Given the description of an element on the screen output the (x, y) to click on. 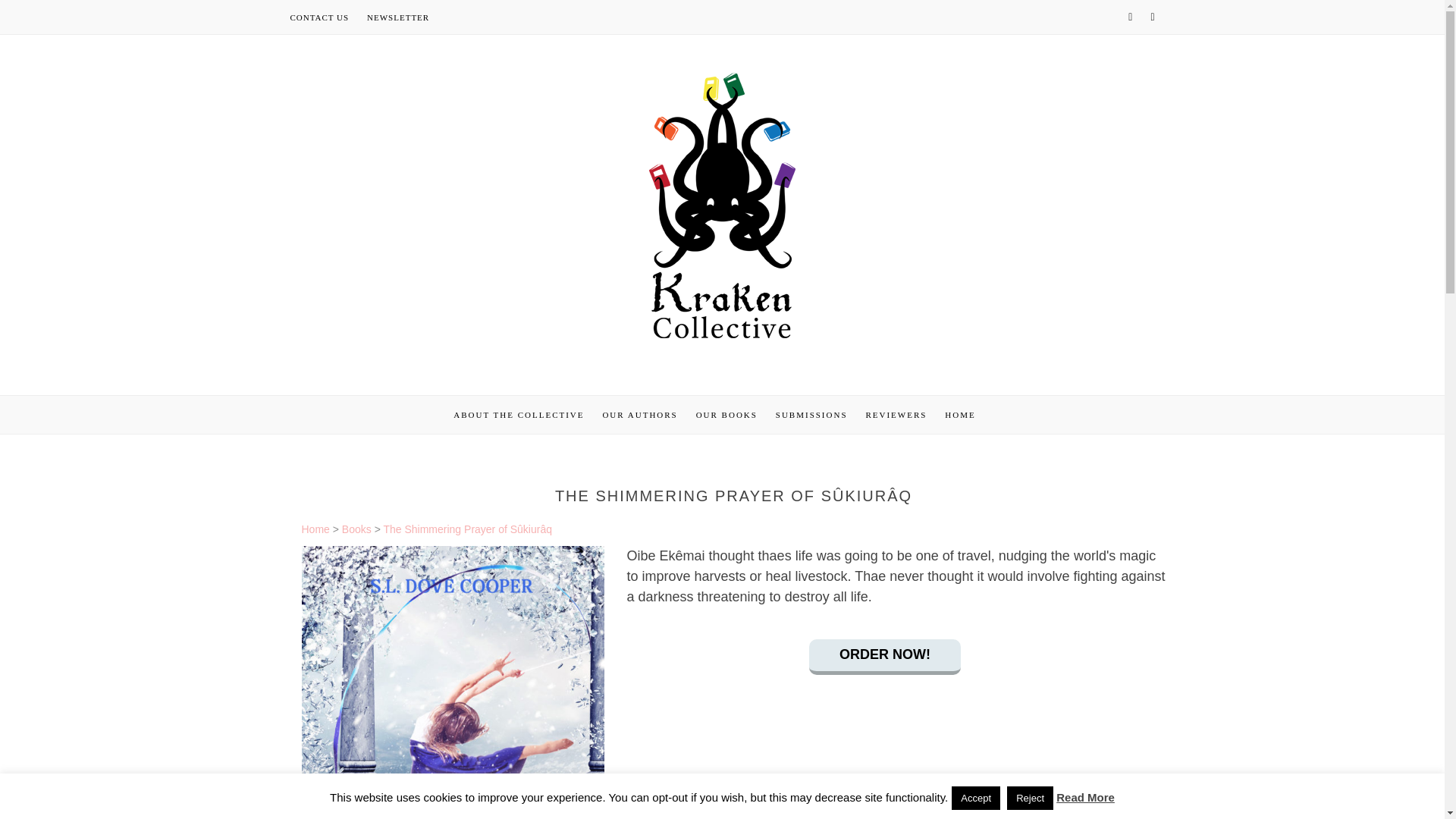
About the Collective (517, 414)
Reject (1029, 797)
Read More (1086, 797)
CONTACT US (319, 17)
CONTACT US (319, 17)
OUR AUTHORS (639, 414)
Accept (976, 797)
Home (315, 529)
REVIEWERS (895, 414)
SUBMISSIONS (811, 414)
ABOUT THE COLLECTIVE (517, 414)
Reviewers (895, 414)
OUR BOOKS (726, 414)
Our Books (726, 414)
Our Authors (639, 414)
